Given the description of an element on the screen output the (x, y) to click on. 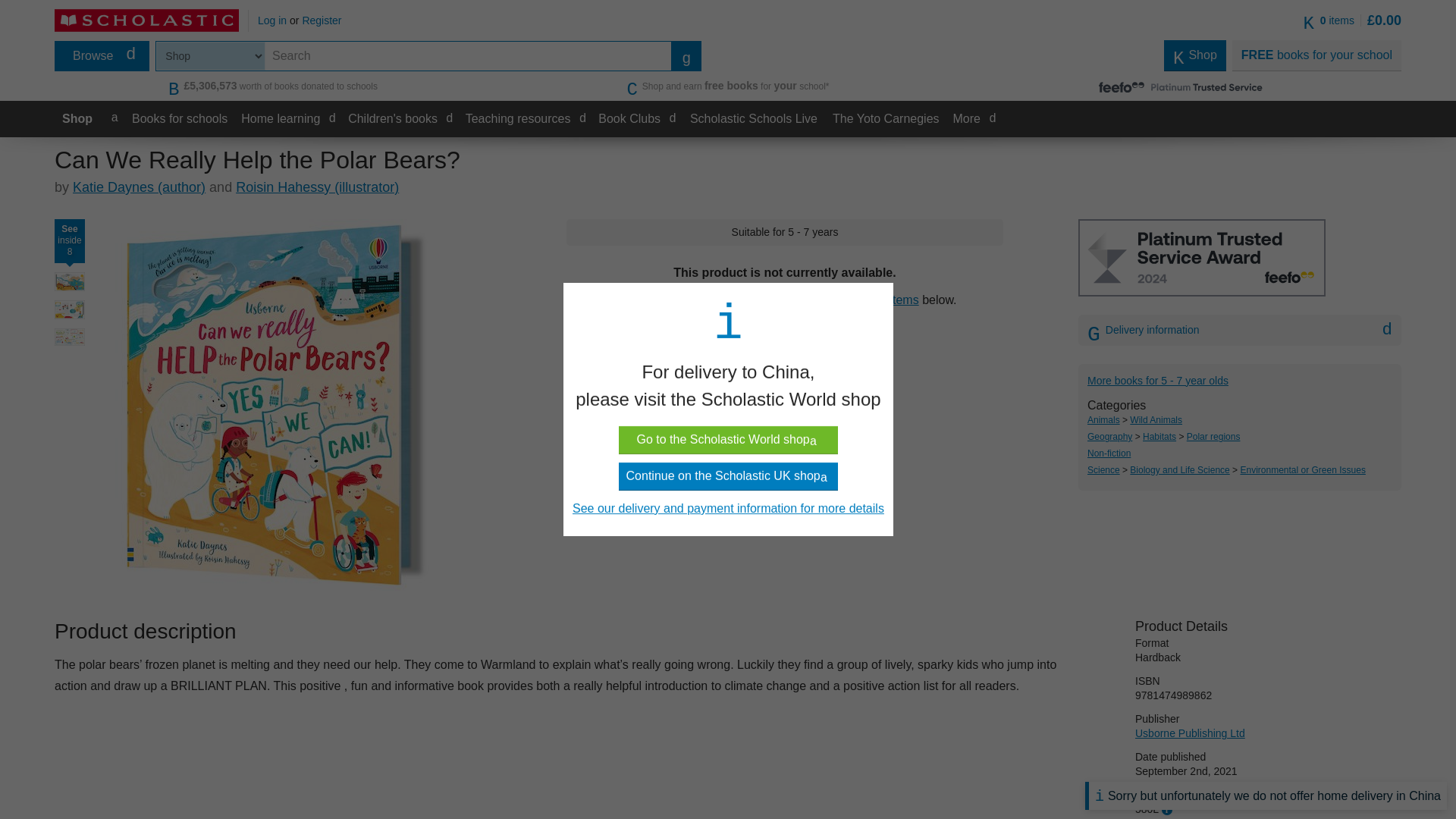
Log in (271, 19)
Register (320, 19)
